Given the description of an element on the screen output the (x, y) to click on. 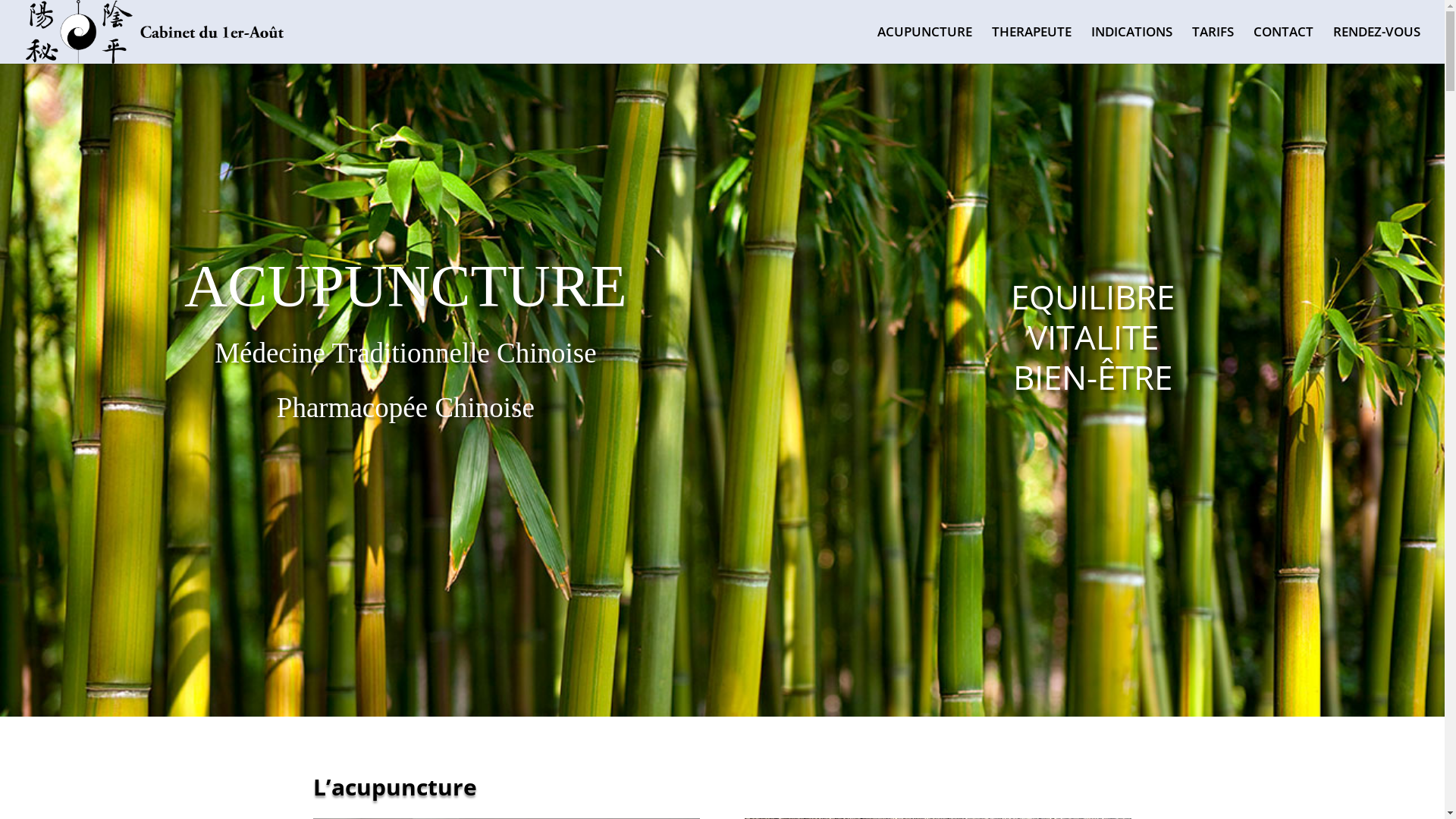
THERAPEUTE Element type: text (1031, 44)
INDICATIONS Element type: text (1131, 44)
CONTACT Element type: text (1283, 44)
RENDEZ-VOUS Element type: text (1376, 44)
TARIFS Element type: text (1212, 44)
ACUPUNCTURE Element type: text (924, 44)
